Given the description of an element on the screen output the (x, y) to click on. 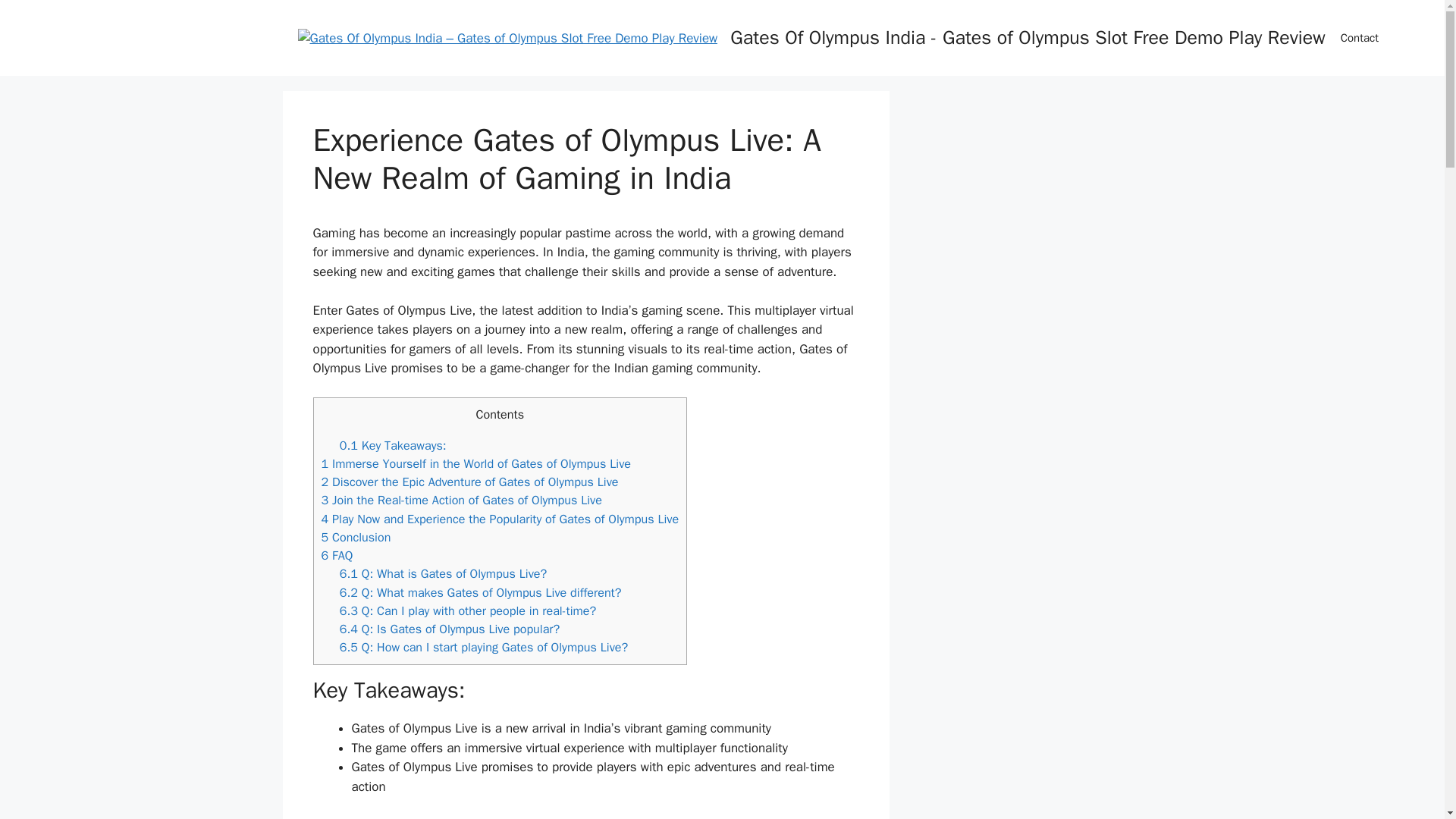
1 Immerse Yourself in the World of Gates of Olympus Live (475, 463)
0.1 Key Takeaways: (392, 445)
6.1 Q: What is Gates of Olympus Live? (443, 573)
6 FAQ (337, 555)
5 Conclusion (356, 537)
2 Discover the Epic Adventure of Gates of Olympus Live (469, 481)
6.3 Q: Can I play with other people in real-time? (467, 610)
Contact (1358, 37)
6.4 Q: Is Gates of Olympus Live popular? (449, 628)
6.5 Q: How can I start playing Gates of Olympus Live? (483, 647)
6.2 Q: What makes Gates of Olympus Live different? (480, 592)
3 Join the Real-time Action of Gates of Olympus Live (461, 499)
